Given the description of an element on the screen output the (x, y) to click on. 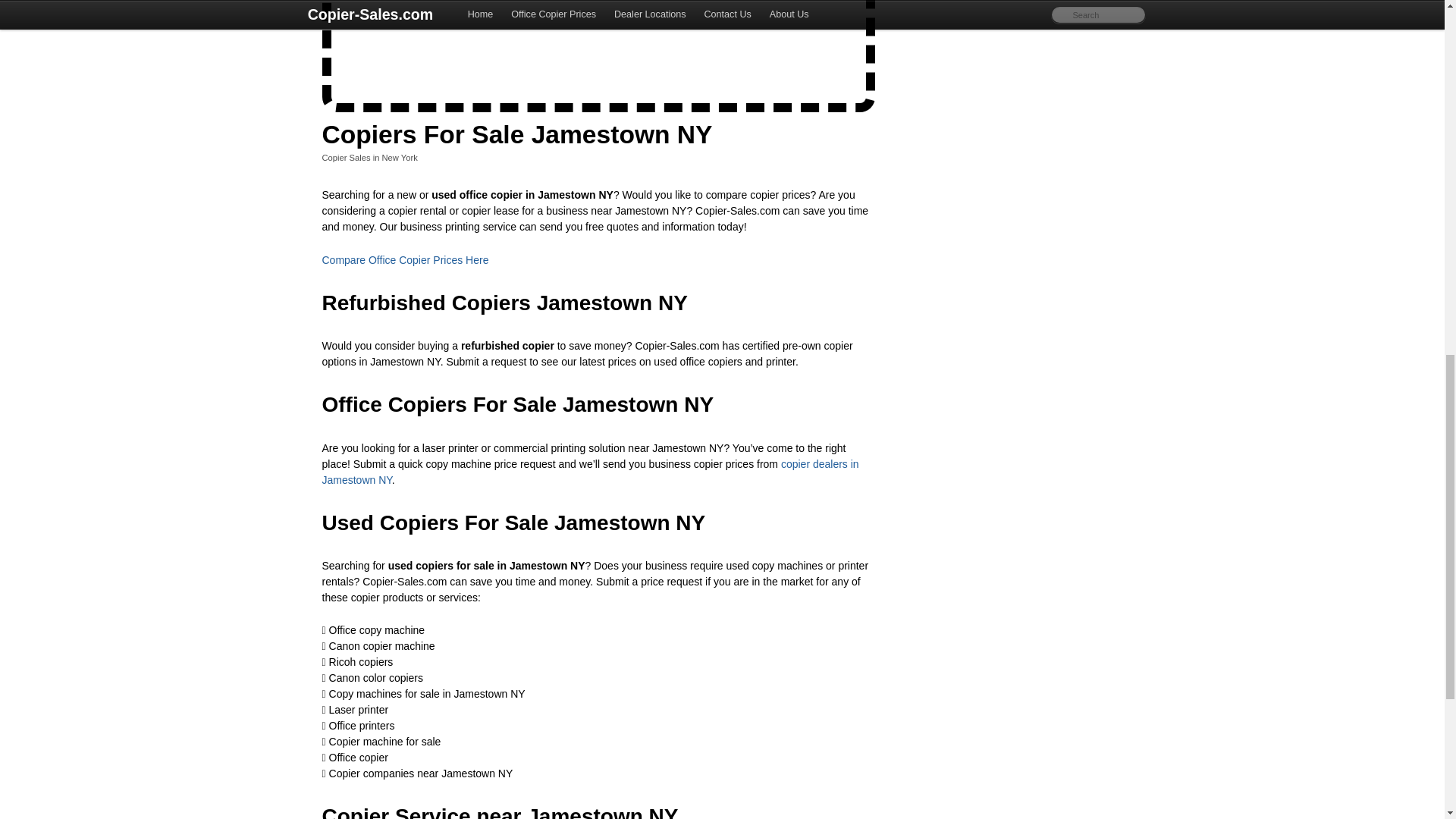
Embedded Wufoo Form (599, 49)
copier dealers in Jamestown NY (590, 471)
New York (399, 157)
Copier Sales (345, 157)
Compare Office Copier Prices Here (404, 259)
